Given the description of an element on the screen output the (x, y) to click on. 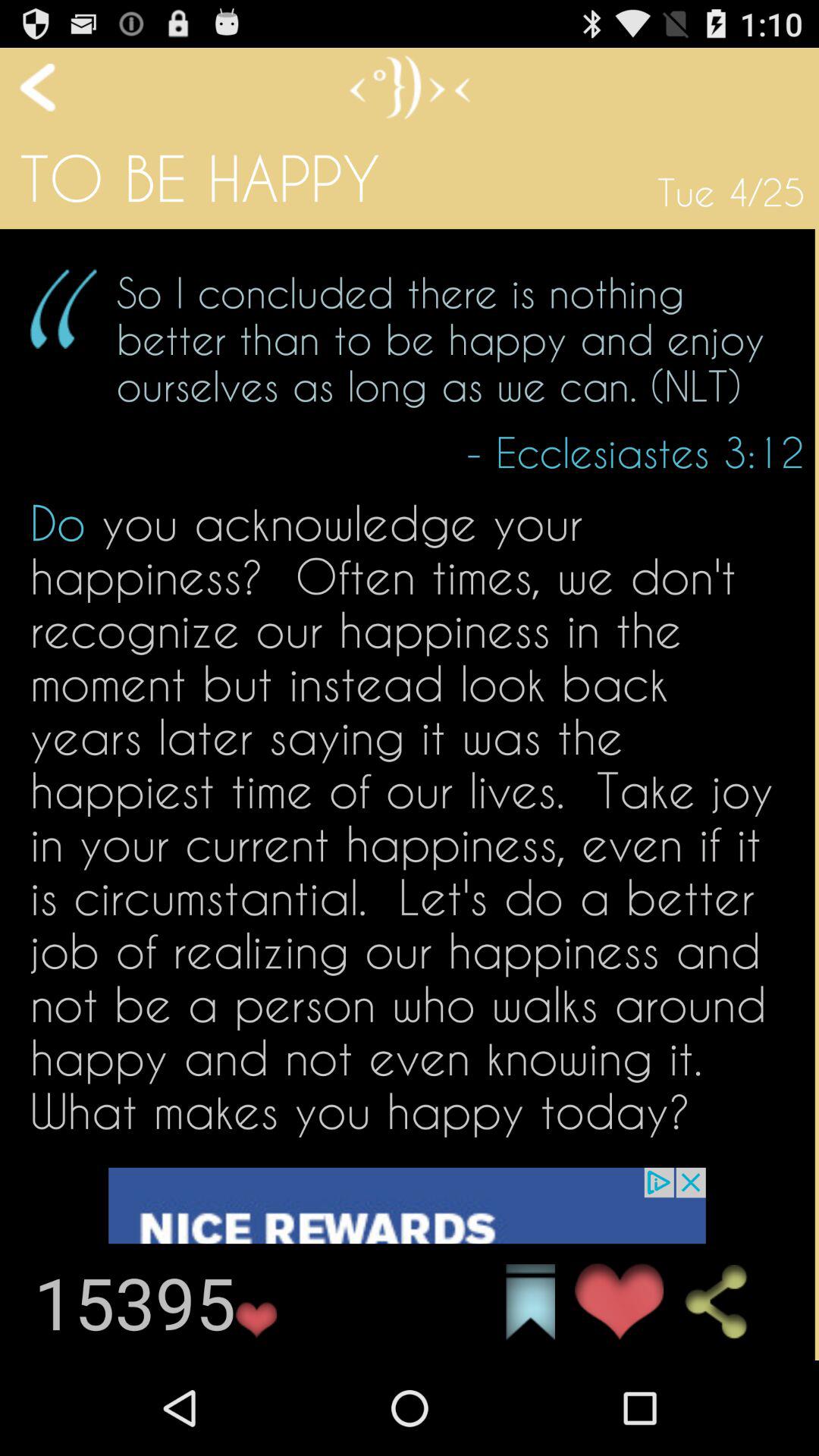
click favorite icon (619, 1301)
